Given the description of an element on the screen output the (x, y) to click on. 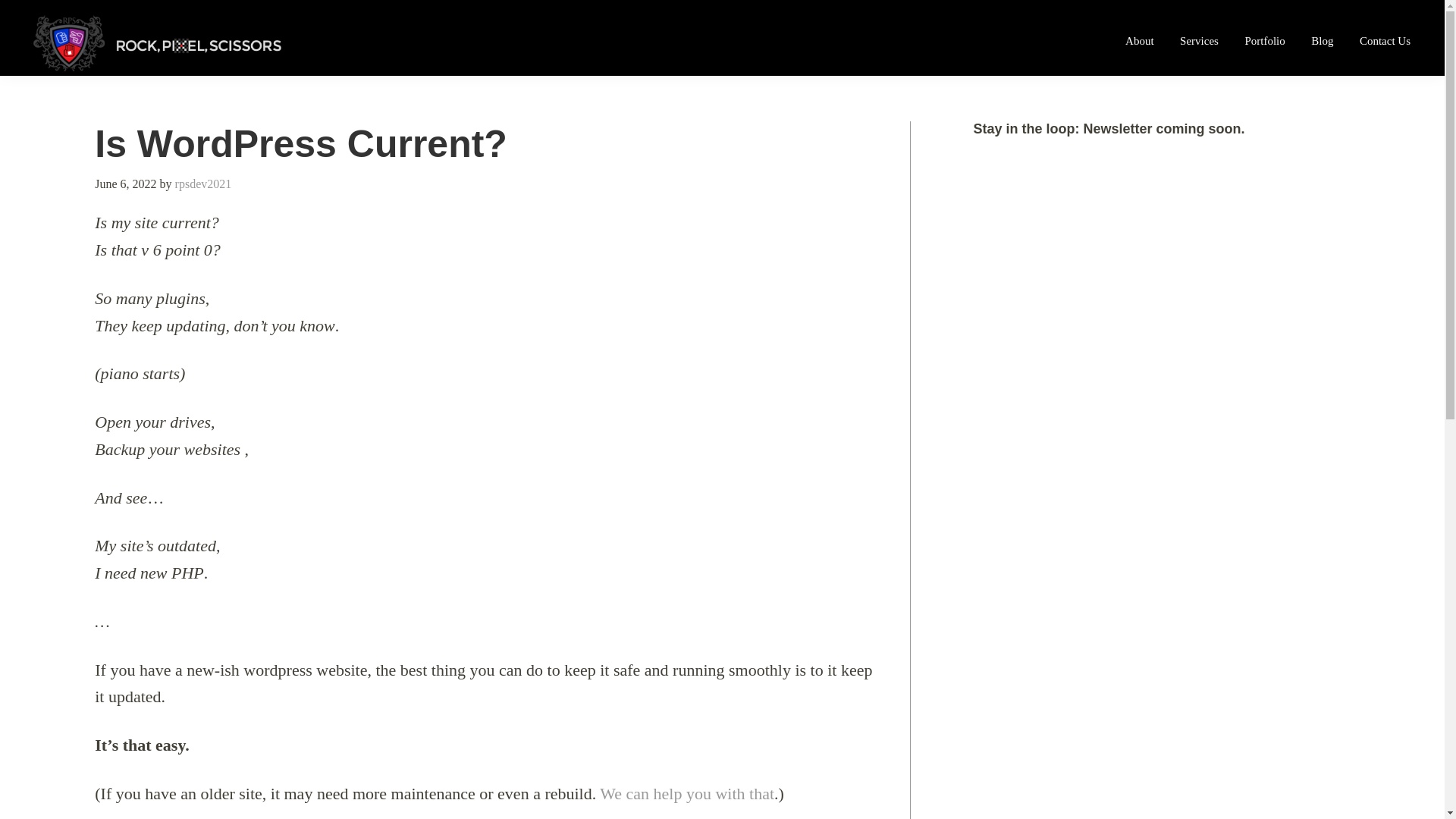
About (1139, 41)
Contact Us (1385, 41)
Blog (1321, 41)
Portfolio (1264, 41)
rpsdev2021 (202, 183)
Services (1199, 41)
We can help you with that (686, 793)
